Given the description of an element on the screen output the (x, y) to click on. 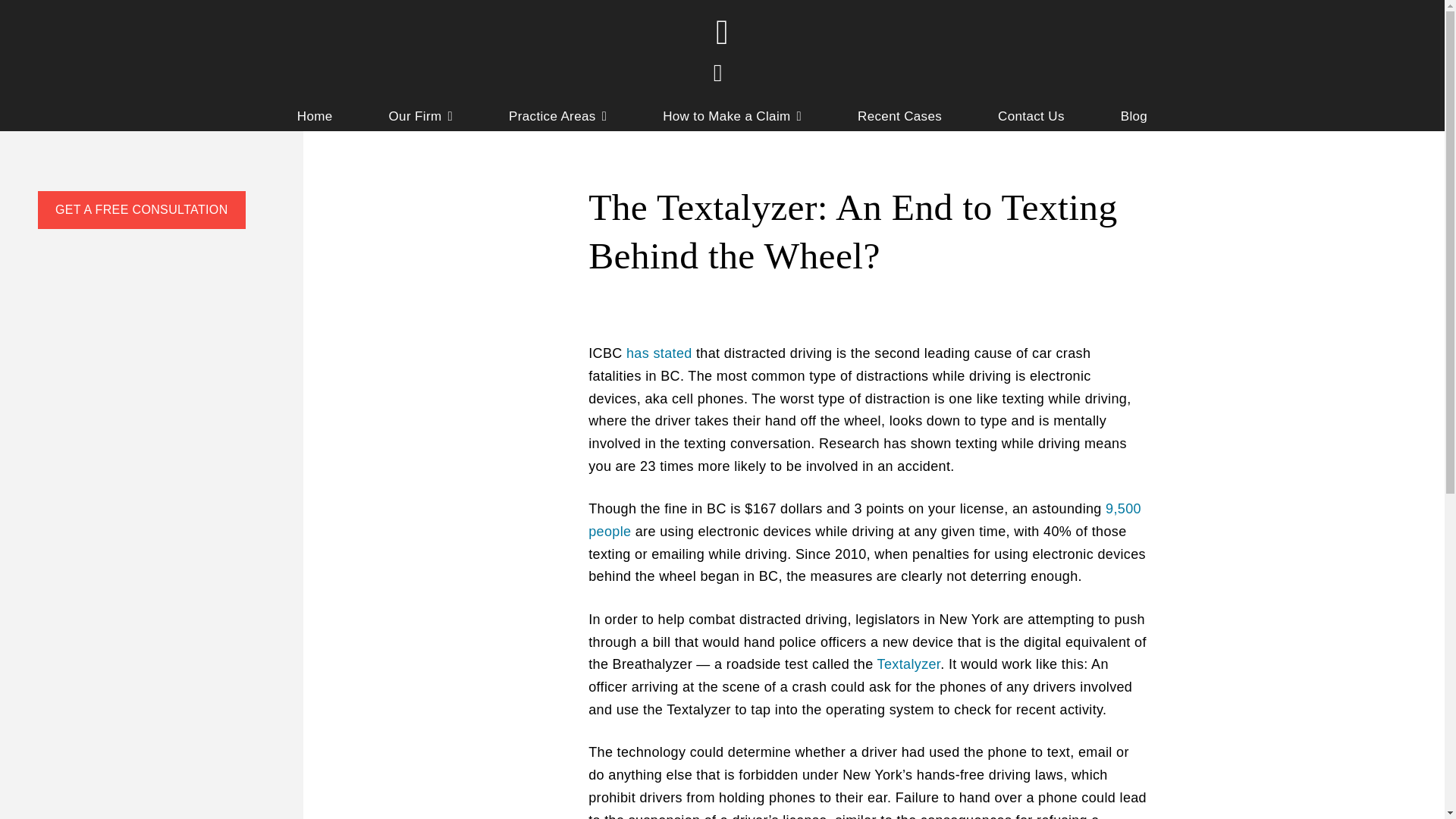
Recent Cases (899, 117)
How to Make a Claim (732, 117)
Home (315, 117)
Blog (1134, 117)
Our Firm (420, 117)
Practice Areas (557, 117)
Contact Us (1030, 117)
